Given the description of an element on the screen output the (x, y) to click on. 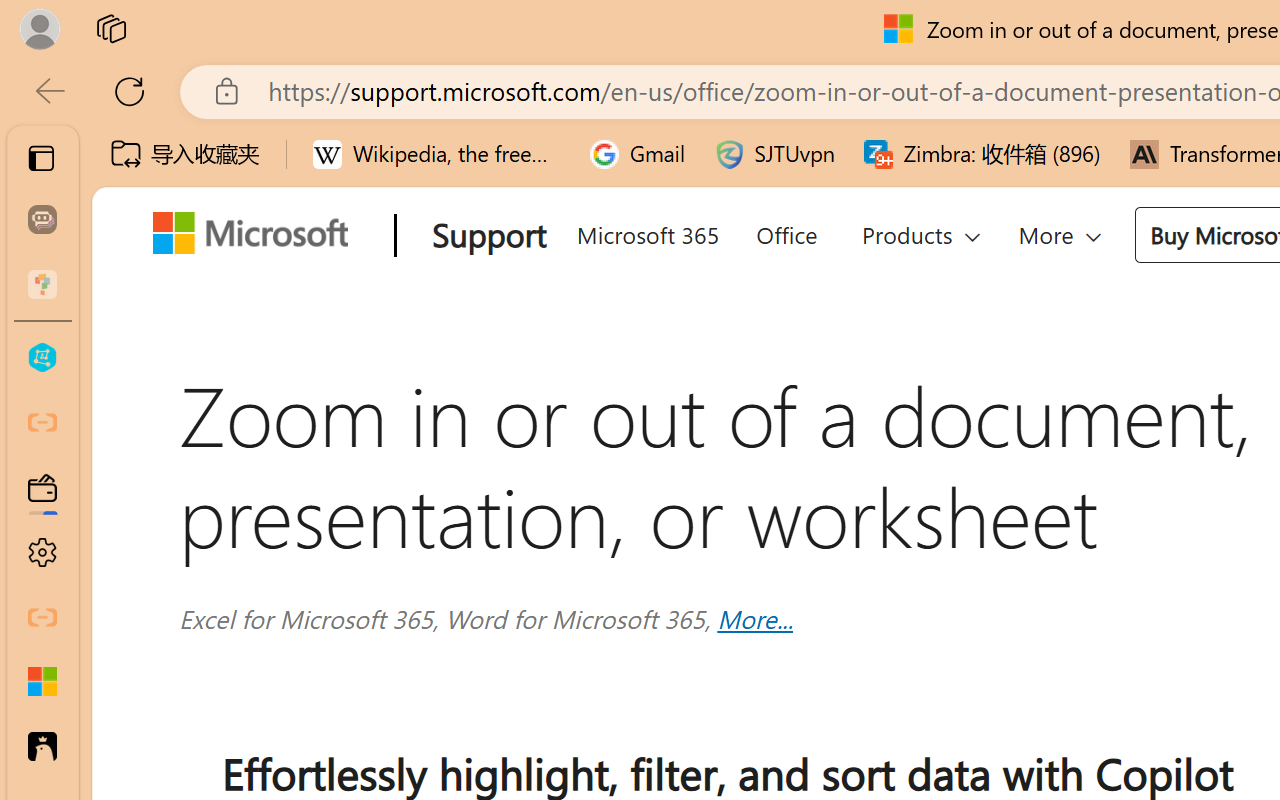
Microsoft 365 (646, 231)
More (1060, 234)
wangyian_dsw - DSW (42, 357)
Office (785, 232)
Support (484, 237)
SJTUvpn (774, 154)
Office (785, 231)
Adjust indents and spacing - Microsoft Support (42, 681)
